Given the description of an element on the screen output the (x, y) to click on. 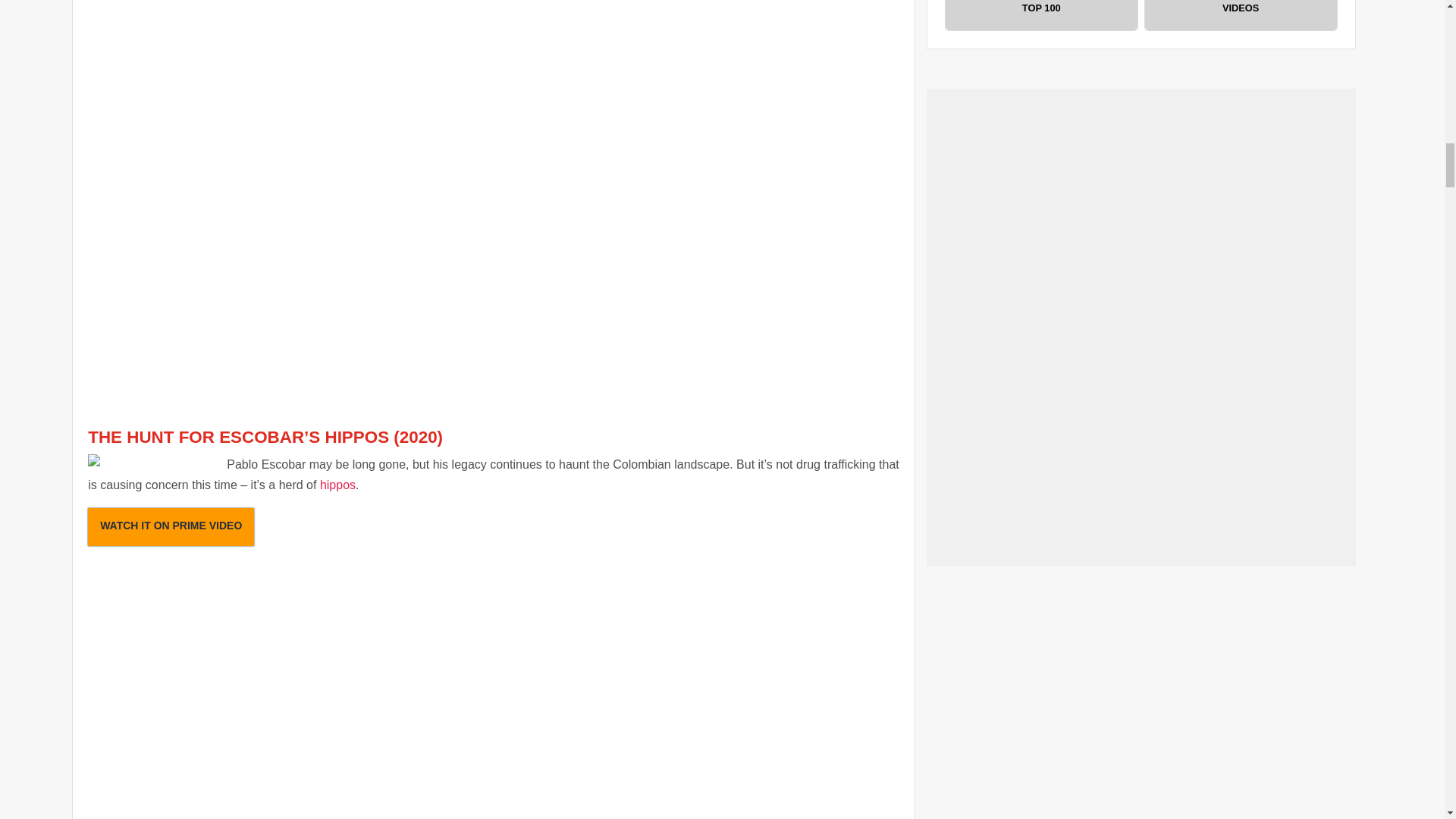
Watch it on Prime (170, 526)
hippos (337, 484)
WATCH IT ON PRIME VIDEO (170, 526)
